Given the description of an element on the screen output the (x, y) to click on. 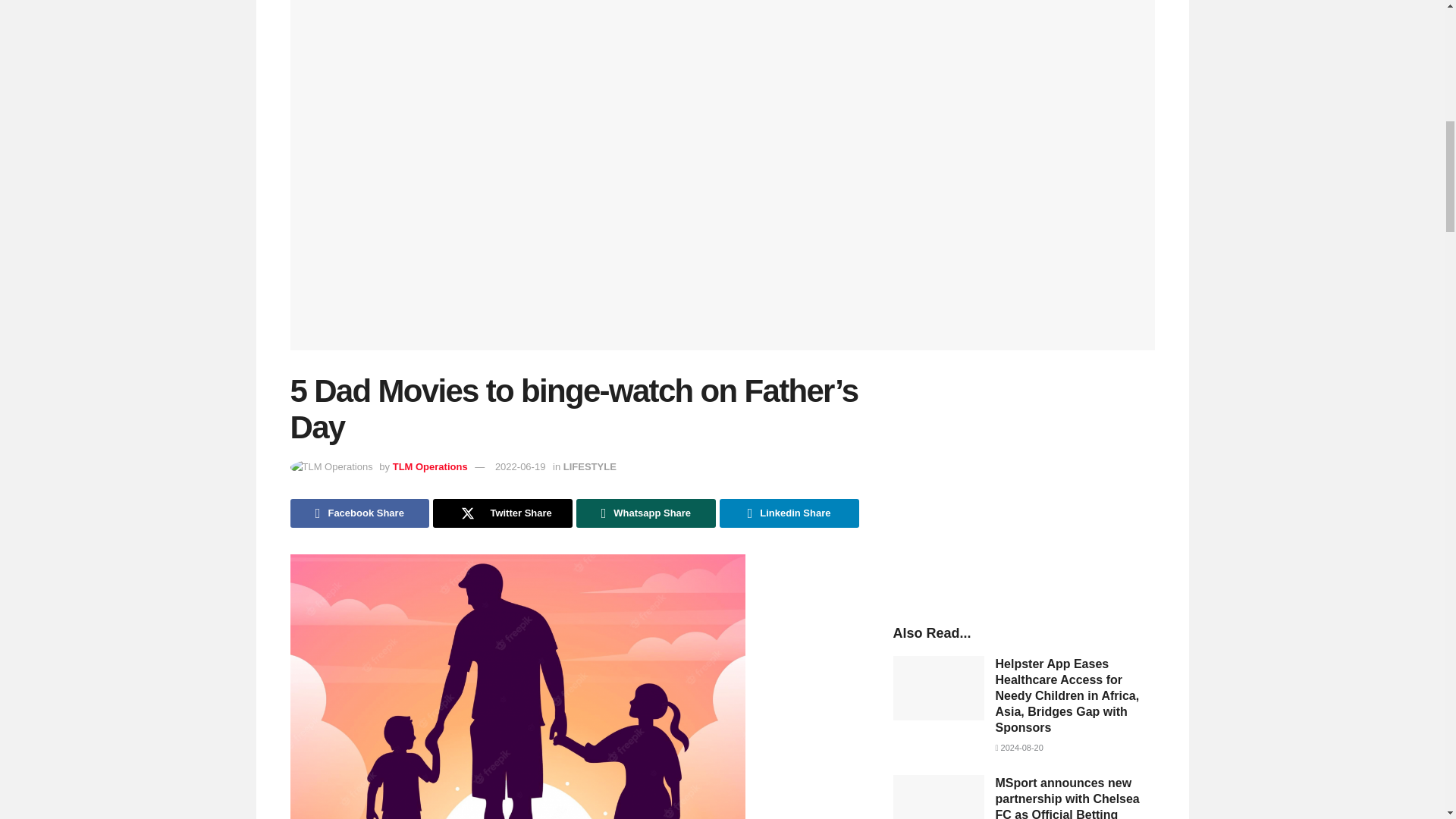
Twitter Share (502, 512)
Facebook Share (359, 512)
Linkedin Share (789, 512)
Whatsapp Share (646, 512)
2022-06-19 (520, 466)
TLM Operations (430, 466)
LIFESTYLE (589, 466)
